Given the description of an element on the screen output the (x, y) to click on. 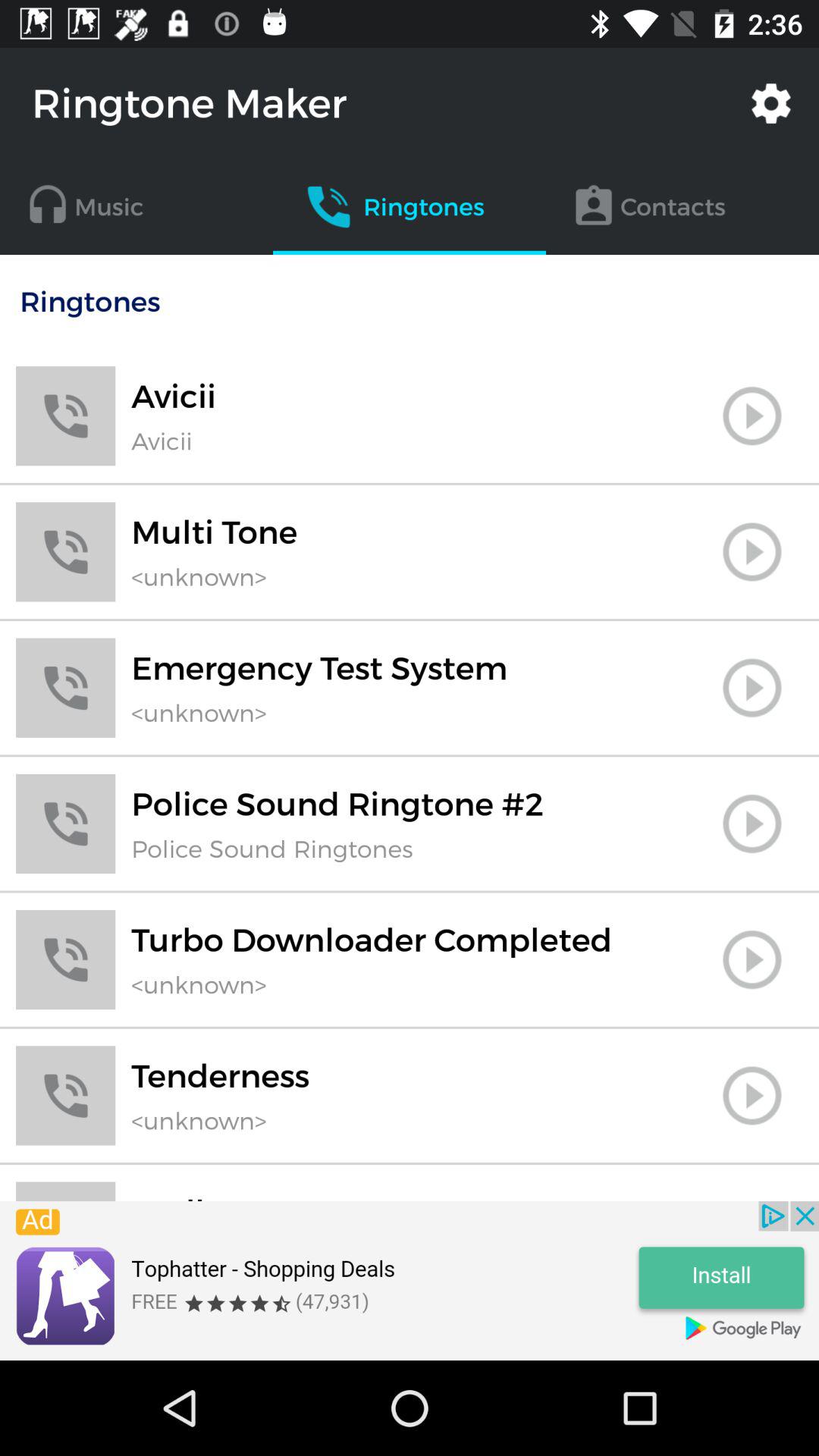
to play music (752, 687)
